Given the description of an element on the screen output the (x, y) to click on. 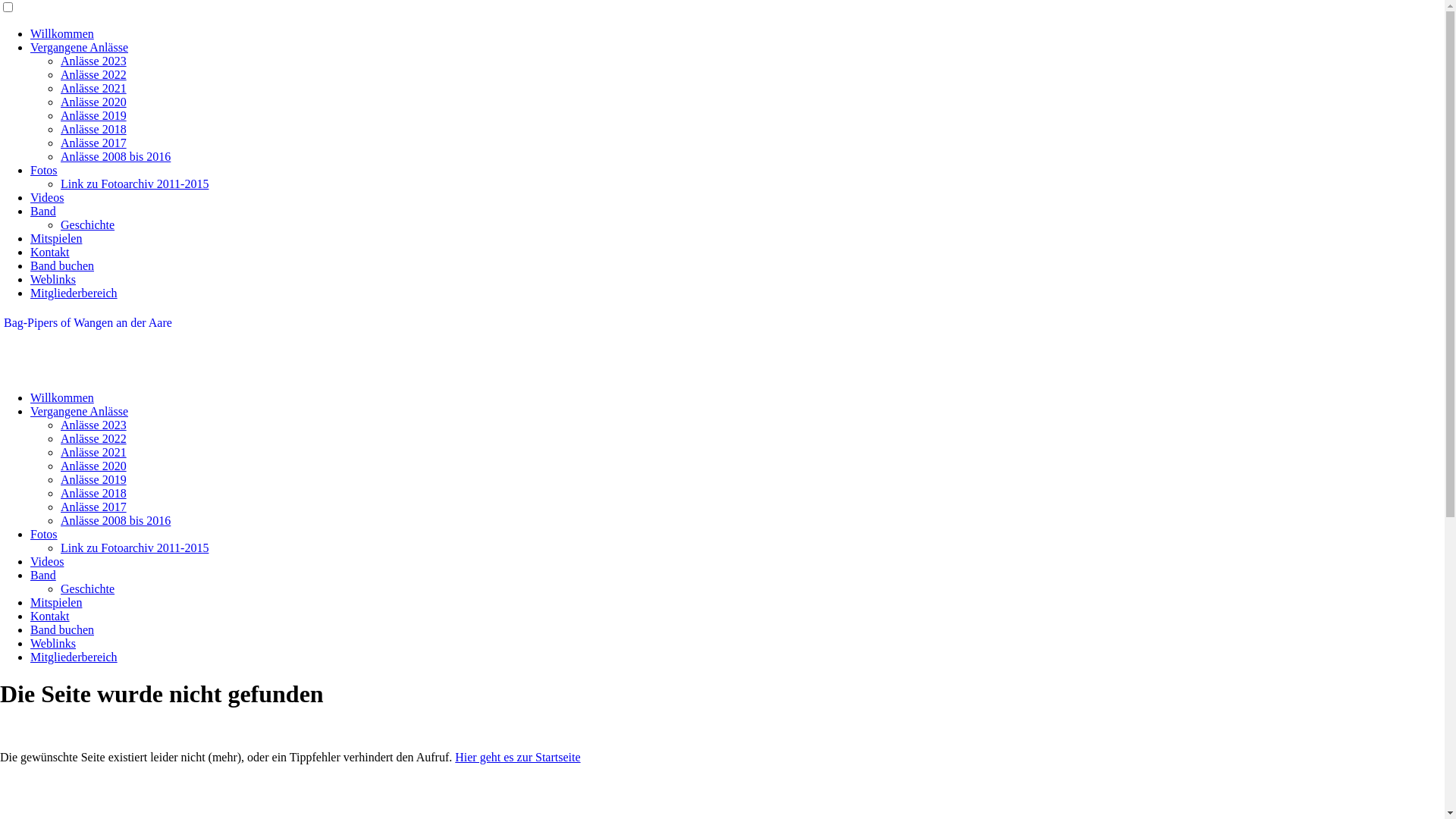
Geschichte Element type: text (87, 588)
Weblinks Element type: text (52, 279)
Geschichte Element type: text (87, 224)
Willkommen Element type: text (62, 33)
Band Element type: text (43, 574)
Link zu Fotoarchiv 2011-2015 Element type: text (134, 183)
Kontakt Element type: text (49, 251)
Bag-Pipers of Wangen an der Aare Element type: text (87, 322)
Videos Element type: text (46, 561)
Band buchen Element type: text (62, 265)
Weblinks Element type: text (52, 643)
Mitgliederbereich Element type: text (73, 656)
Band buchen Element type: text (62, 629)
Link zu Fotoarchiv 2011-2015 Element type: text (134, 547)
Mitspielen Element type: text (55, 238)
Band Element type: text (43, 210)
Willkommen Element type: text (62, 397)
Videos Element type: text (46, 197)
Mitspielen Element type: text (55, 602)
Fotos Element type: text (43, 169)
Hier geht es zur Startseite Element type: text (517, 756)
Mitgliederbereich Element type: text (73, 292)
Kontakt Element type: text (49, 615)
Fotos Element type: text (43, 533)
